Given the description of an element on the screen output the (x, y) to click on. 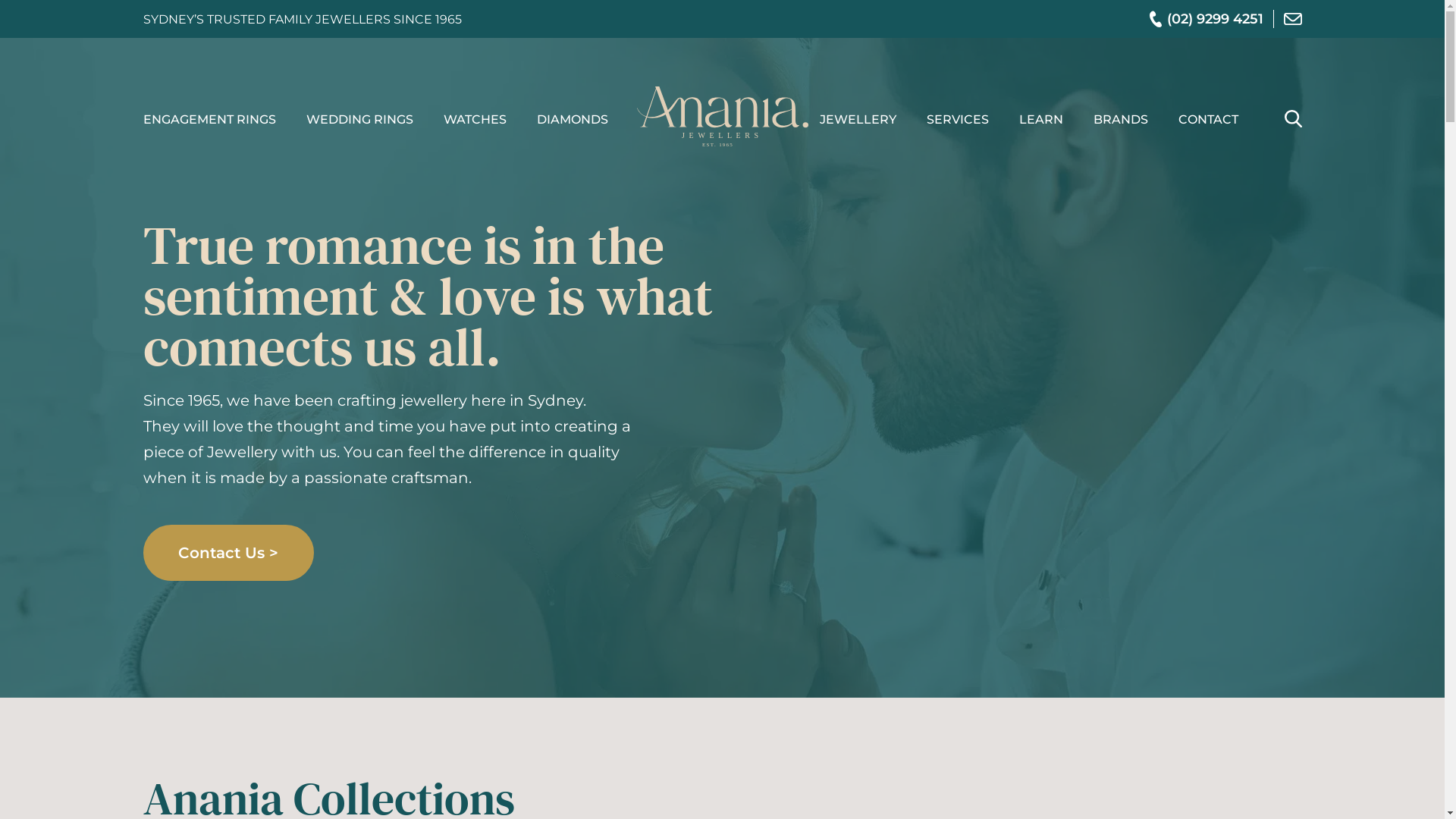
(02) 9299 4251 Element type: text (1206, 18)
EMAIL Element type: text (1292, 18)
Search Element type: text (1293, 117)
WATCHES Element type: text (473, 119)
JEWELLERY Element type: text (857, 119)
ENGAGEMENT RINGS Element type: text (208, 119)
CONTACT Element type: text (1208, 119)
Contact Us > Element type: text (227, 552)
BRANDS Element type: text (1120, 119)
SERVICES Element type: text (957, 119)
LEARN Element type: text (1041, 119)
DIAMONDS Element type: text (572, 119)
WEDDING RINGS Element type: text (359, 119)
